Given the description of an element on the screen output the (x, y) to click on. 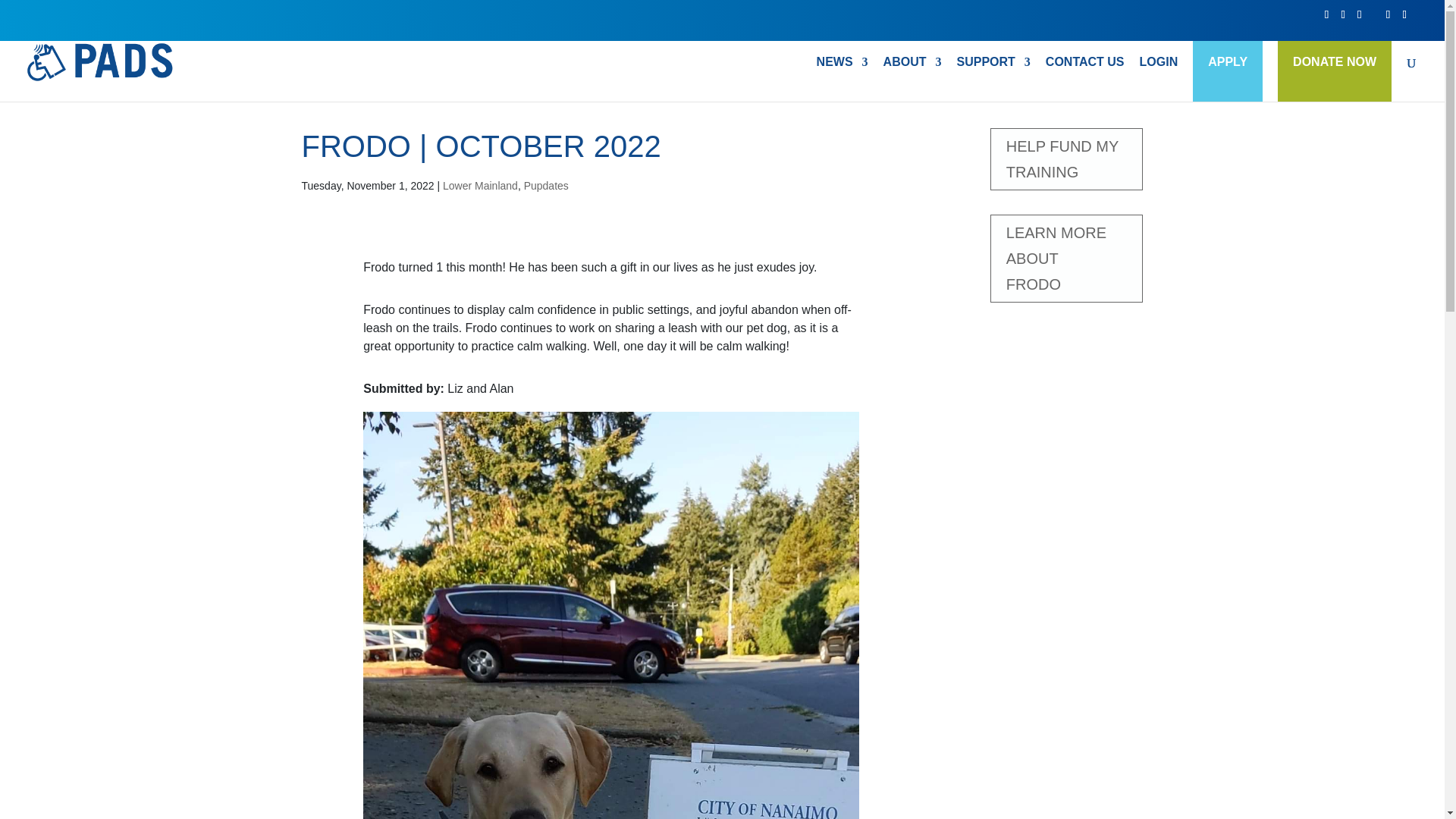
CONTACT US (1084, 78)
ABOUT (912, 78)
SUPPORT (992, 78)
NEWS (841, 78)
DONATE NOW (1334, 61)
